Given the description of an element on the screen output the (x, y) to click on. 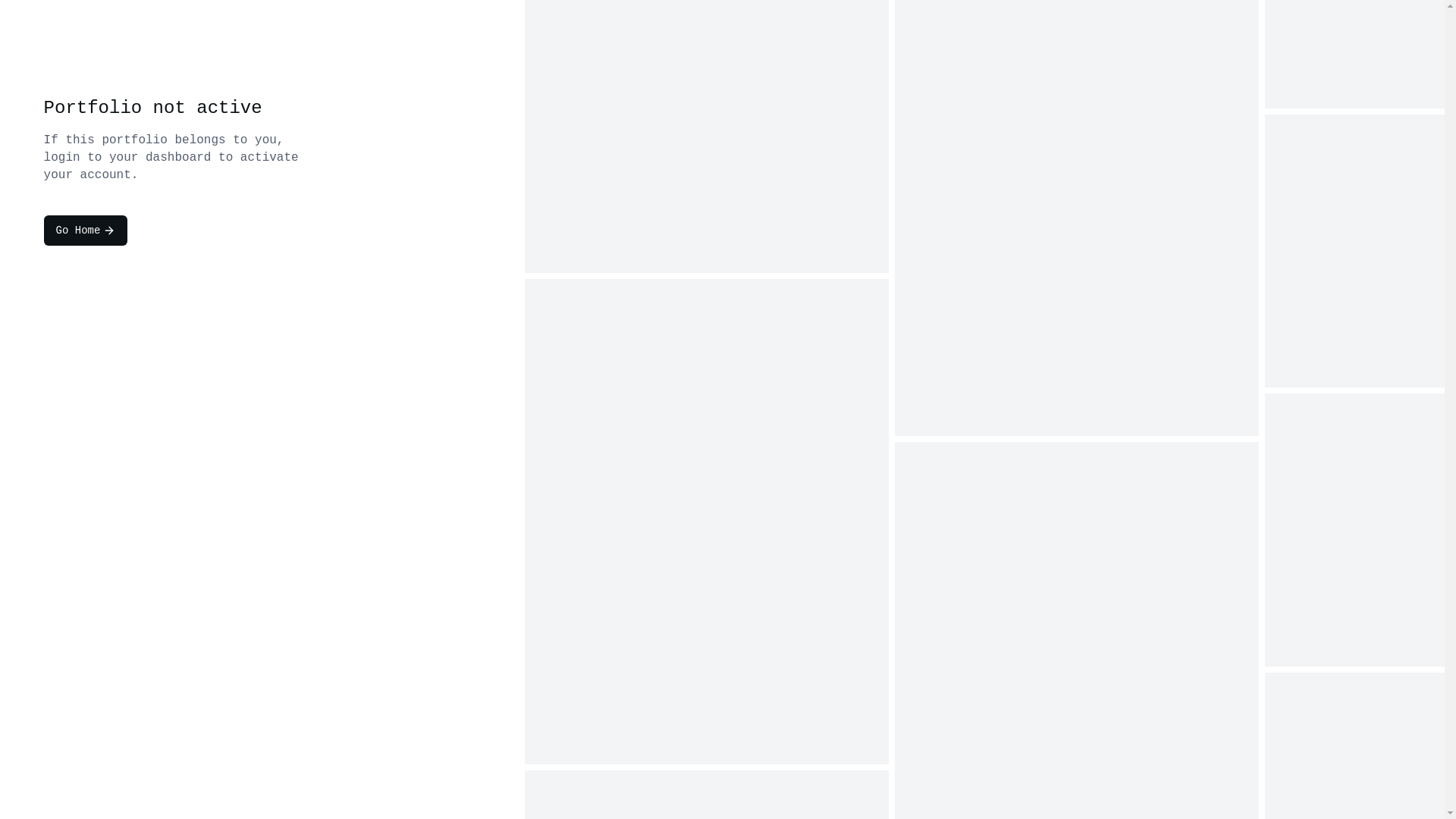
Go Home Element type: text (85, 230)
